Given the description of an element on the screen output the (x, y) to click on. 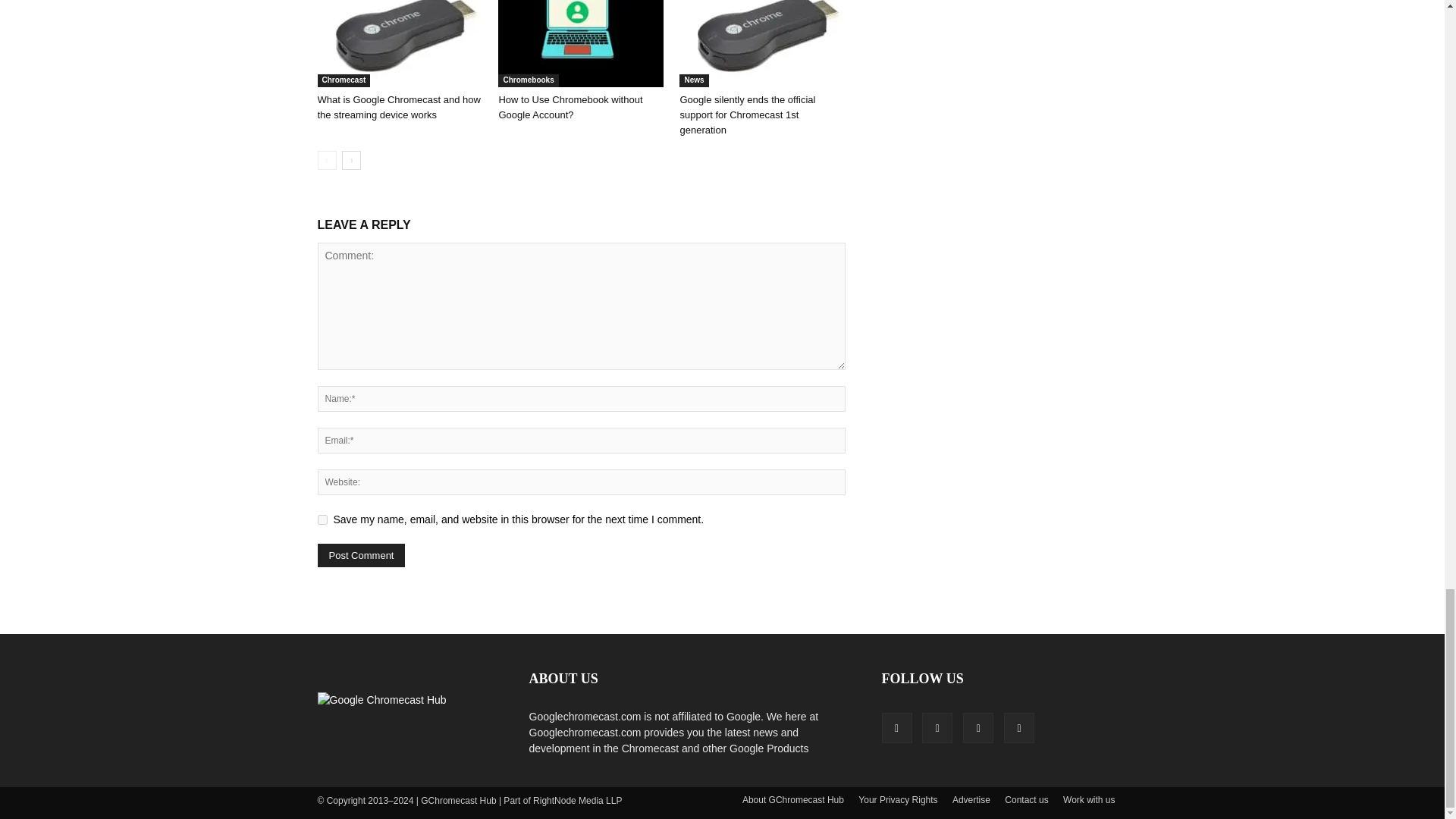
Post Comment (360, 555)
yes (321, 519)
